Given the description of an element on the screen output the (x, y) to click on. 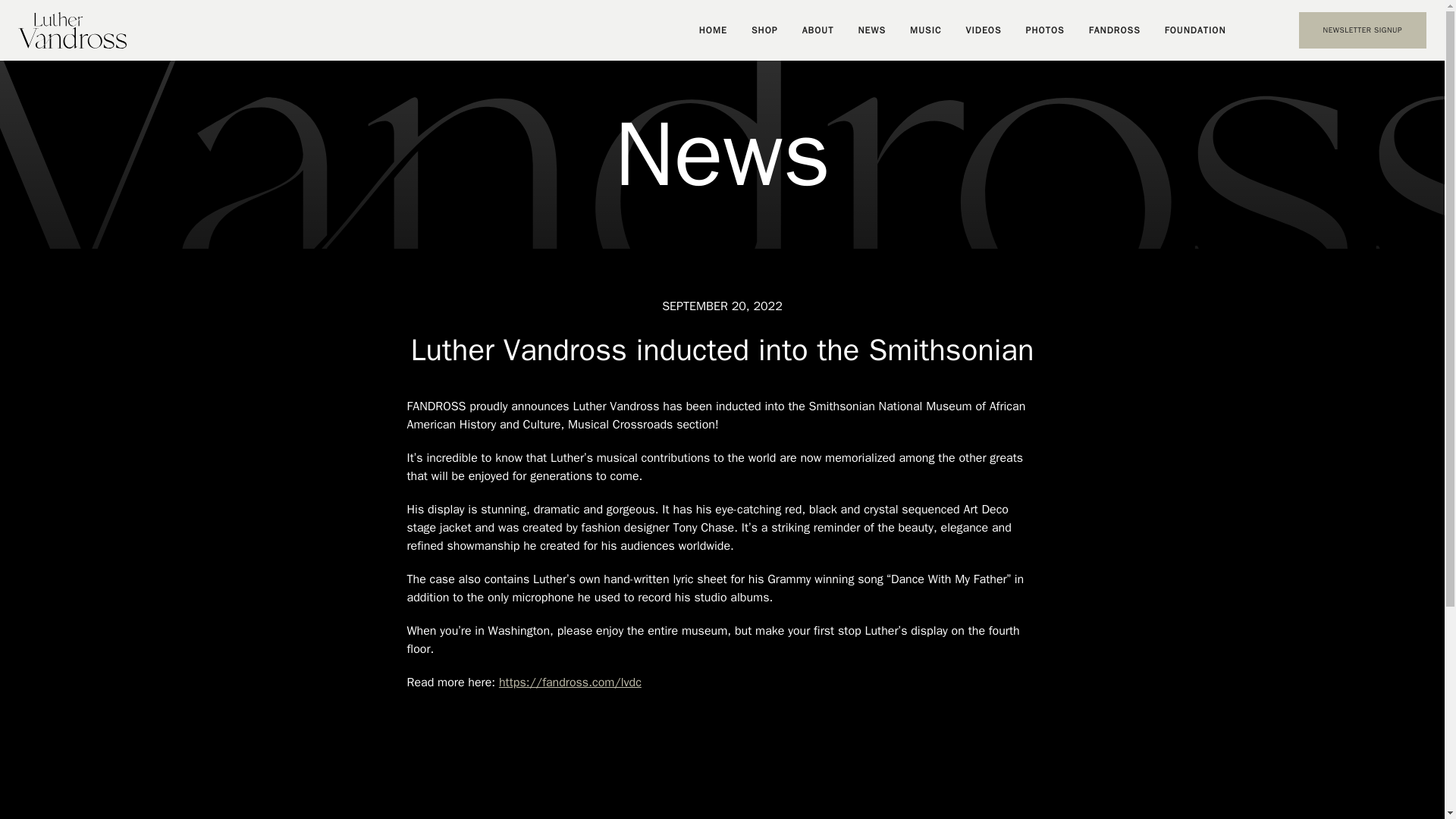
HOME (712, 30)
ABOUT (818, 30)
NEWS (871, 30)
FANDROSS (1114, 30)
MUSIC (925, 30)
FOUNDATION (1194, 30)
SHOP (764, 30)
VIDEOS (983, 30)
PHOTOS (1045, 30)
NEWSLETTER SIGNUP (1362, 30)
